Given the description of an element on the screen output the (x, y) to click on. 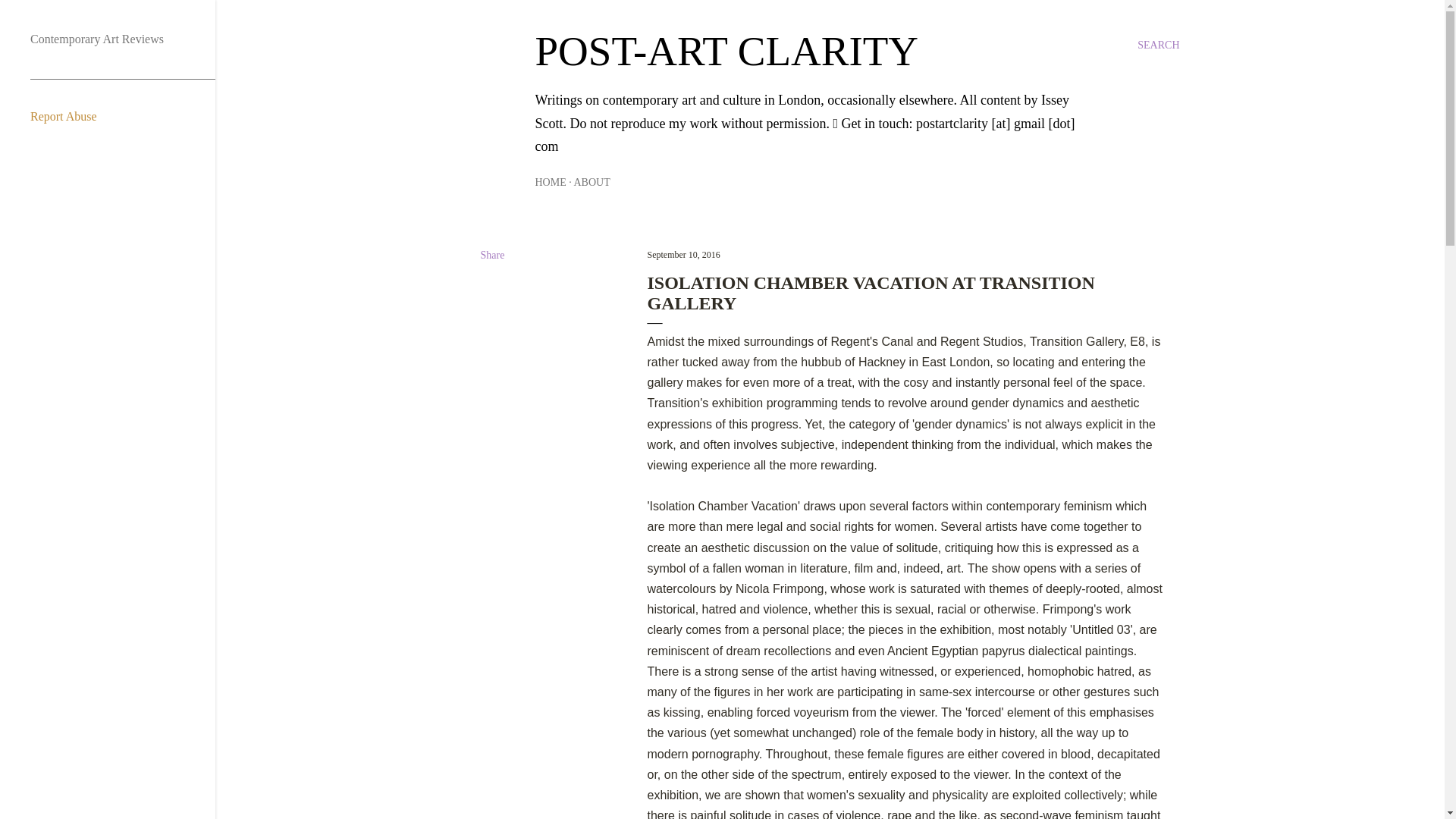
September 10, 2016 (683, 254)
permanent link (683, 254)
HOME (550, 182)
Share (492, 255)
POST-ART CLARITY (726, 50)
SEARCH (1158, 45)
ABOUT (591, 182)
